Given the description of an element on the screen output the (x, y) to click on. 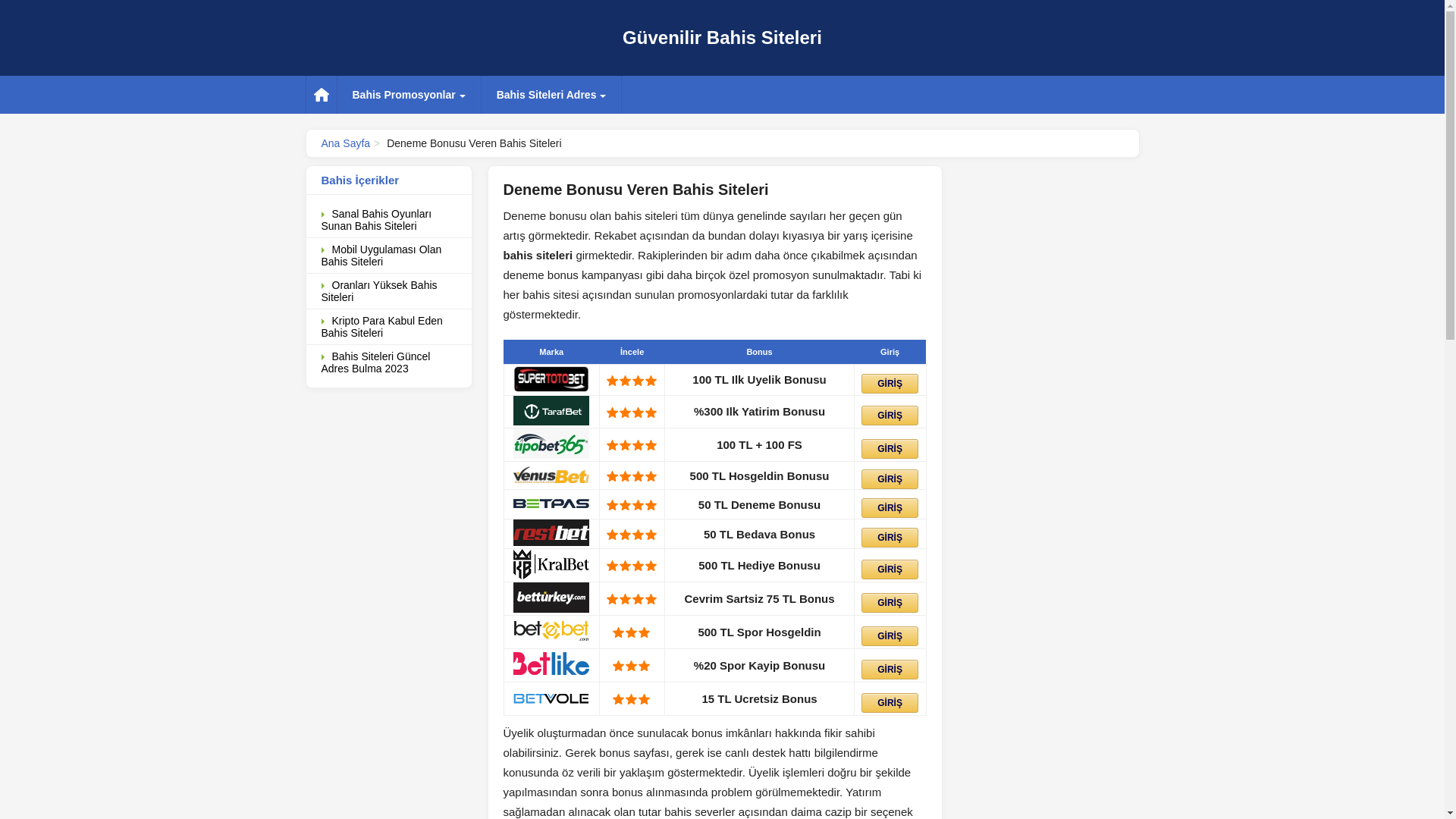
Ana Sayfa Element type: text (345, 143)
Bahis Promosyonlar Element type: text (408, 94)
Bahis Siteleri Adres Element type: text (551, 94)
Kripto Para Kabul Eden Bahis Siteleri Element type: text (388, 327)
